Given the description of an element on the screen output the (x, y) to click on. 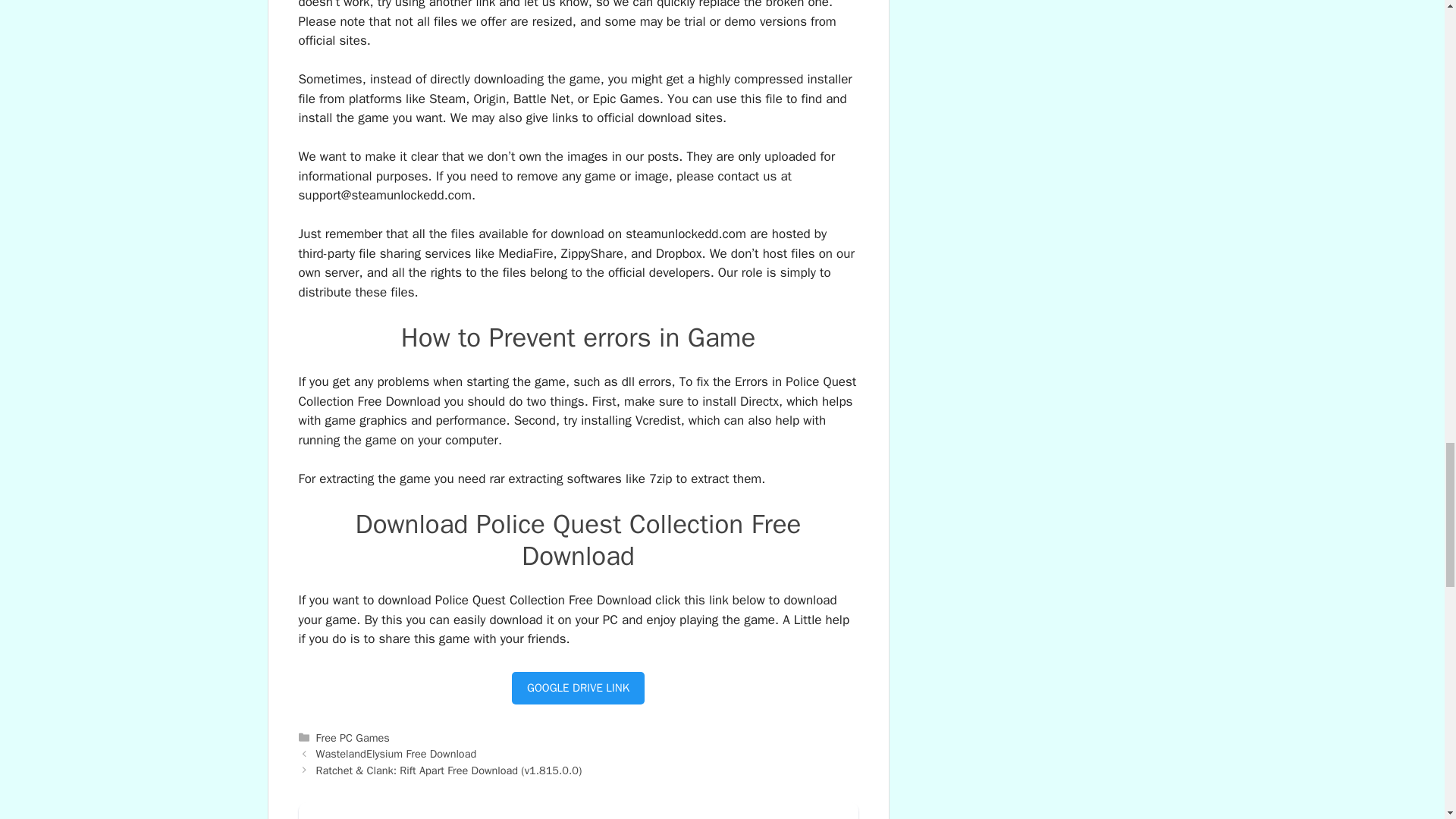
WastelandElysium Free Download (396, 753)
GOOGLE DRIVE LINK (578, 687)
Free PC Games (352, 737)
